Given the description of an element on the screen output the (x, y) to click on. 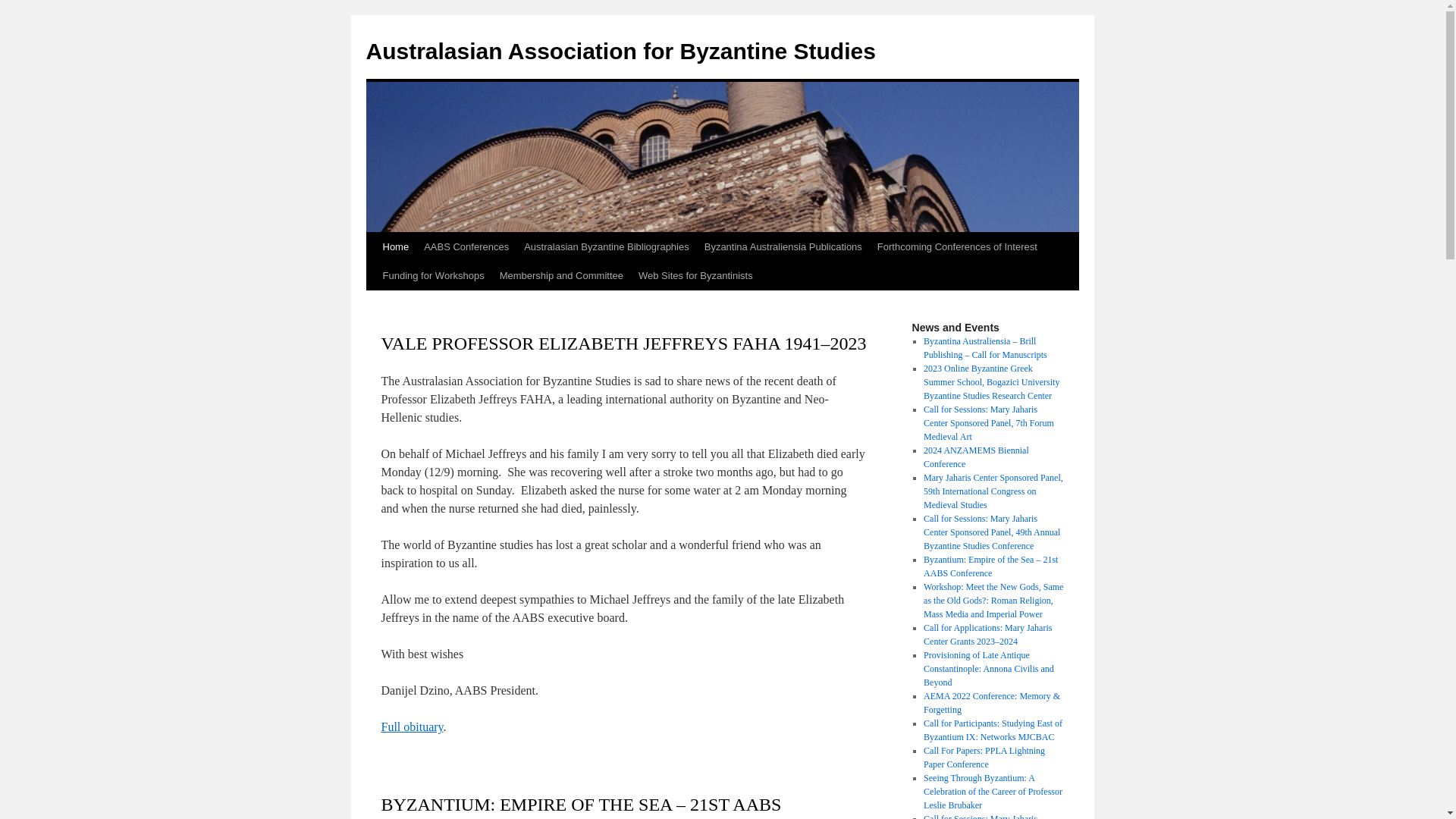
AEMA 2022 Conference: Memory & Forgetting Element type: text (991, 702)
Forthcoming Conferences of Interest Element type: text (956, 246)
Funding for Workshops Element type: text (432, 275)
Byzantina Australiensia Publications Element type: text (782, 246)
Full obituary Element type: text (411, 726)
Home Element type: text (395, 246)
Australasian Association for Byzantine Studies Element type: text (620, 50)
Membership and Committee Element type: text (561, 275)
AABS Conferences Element type: text (466, 246)
Australasian Byzantine Bibliographies Element type: text (606, 246)
Web Sites for Byzantinists Element type: text (695, 275)
Call For Papers: PPLA Lightning Paper Conference Element type: text (983, 757)
2024 ANZAMEMS Biennial Conference Element type: text (976, 457)
